Given the description of an element on the screen output the (x, y) to click on. 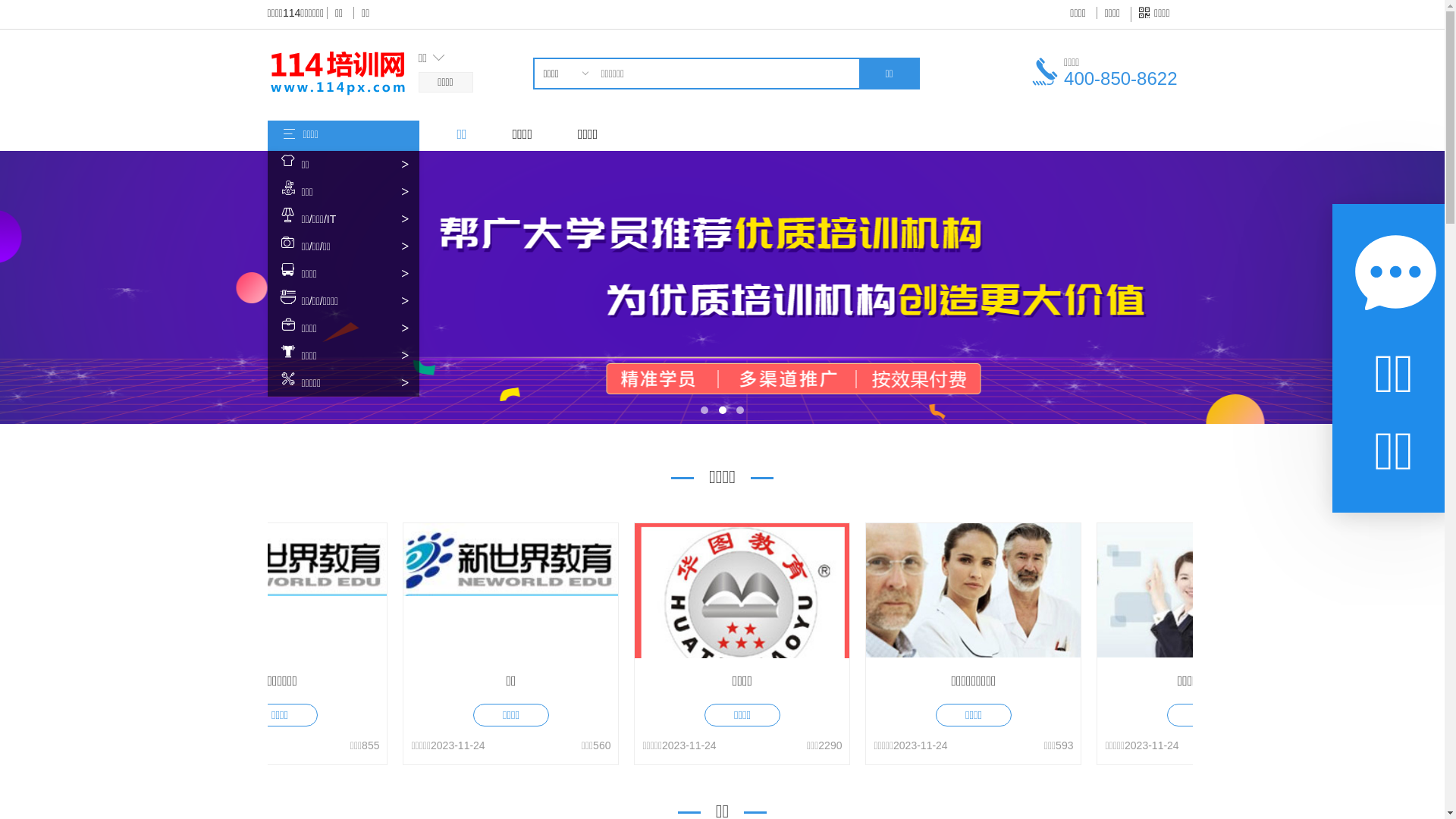
0 Element type: text (563, 119)
0 Element type: text (563, 100)
